Given the description of an element on the screen output the (x, y) to click on. 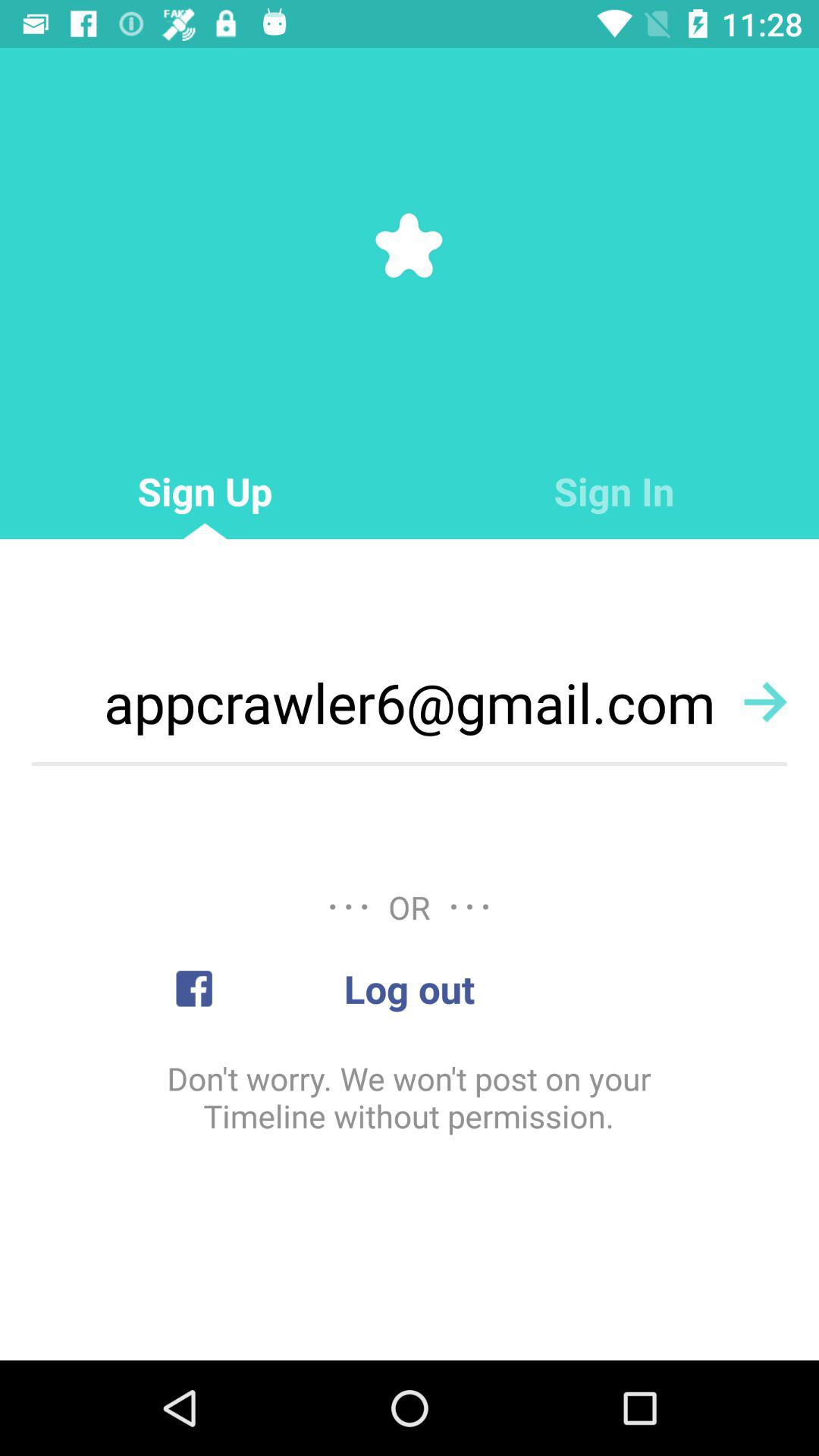
tap the appcrawler6@gmail.com icon (409, 702)
